Given the description of an element on the screen output the (x, y) to click on. 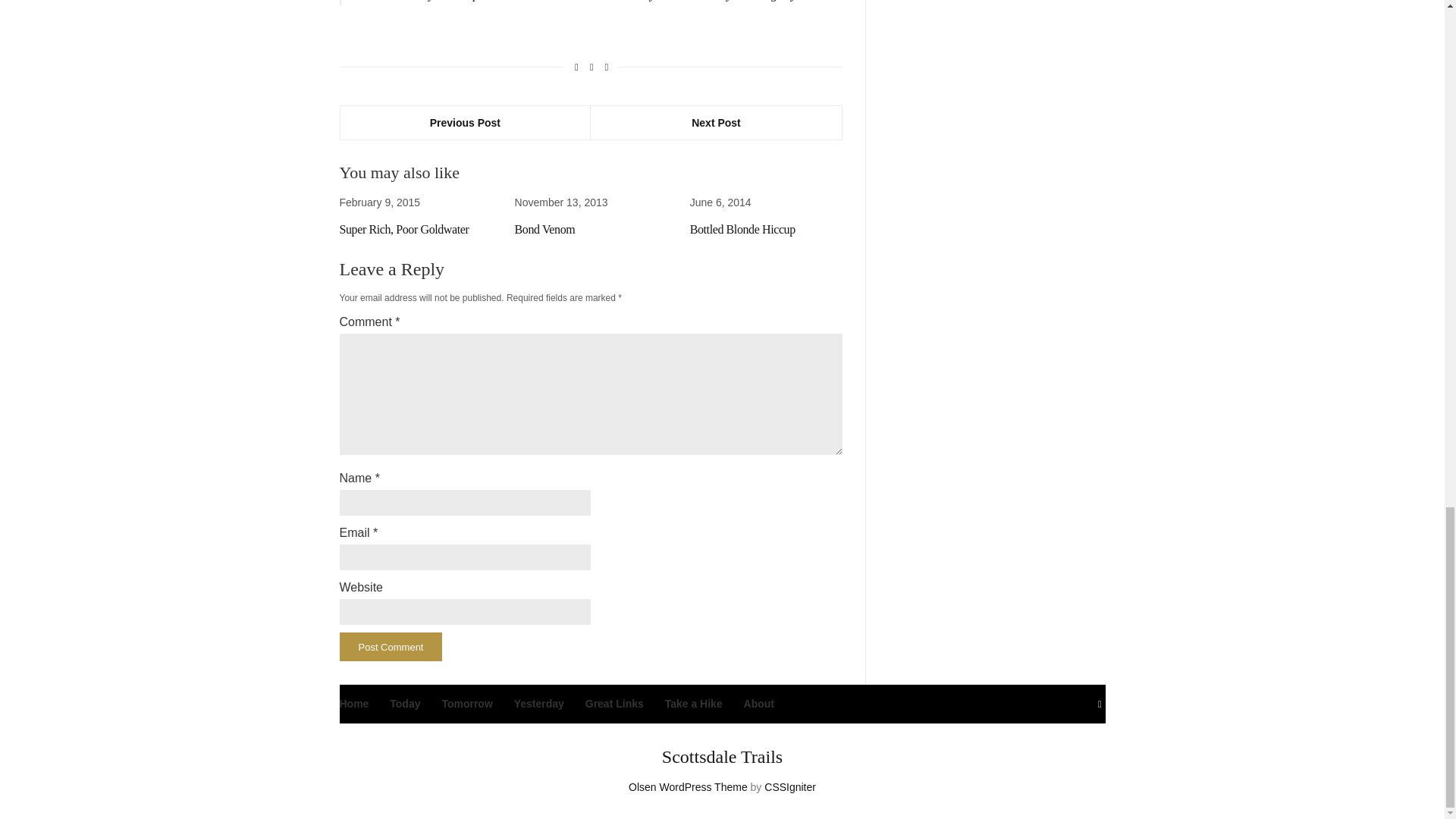
Bottled Blonde Hiccup (742, 228)
Next Post (716, 122)
Super Rich, Poor Goldwater (403, 228)
Bond Venom (545, 228)
Blogging theme for WordPress (688, 787)
Post Comment (390, 646)
Previous Post (465, 122)
